Given the description of an element on the screen output the (x, y) to click on. 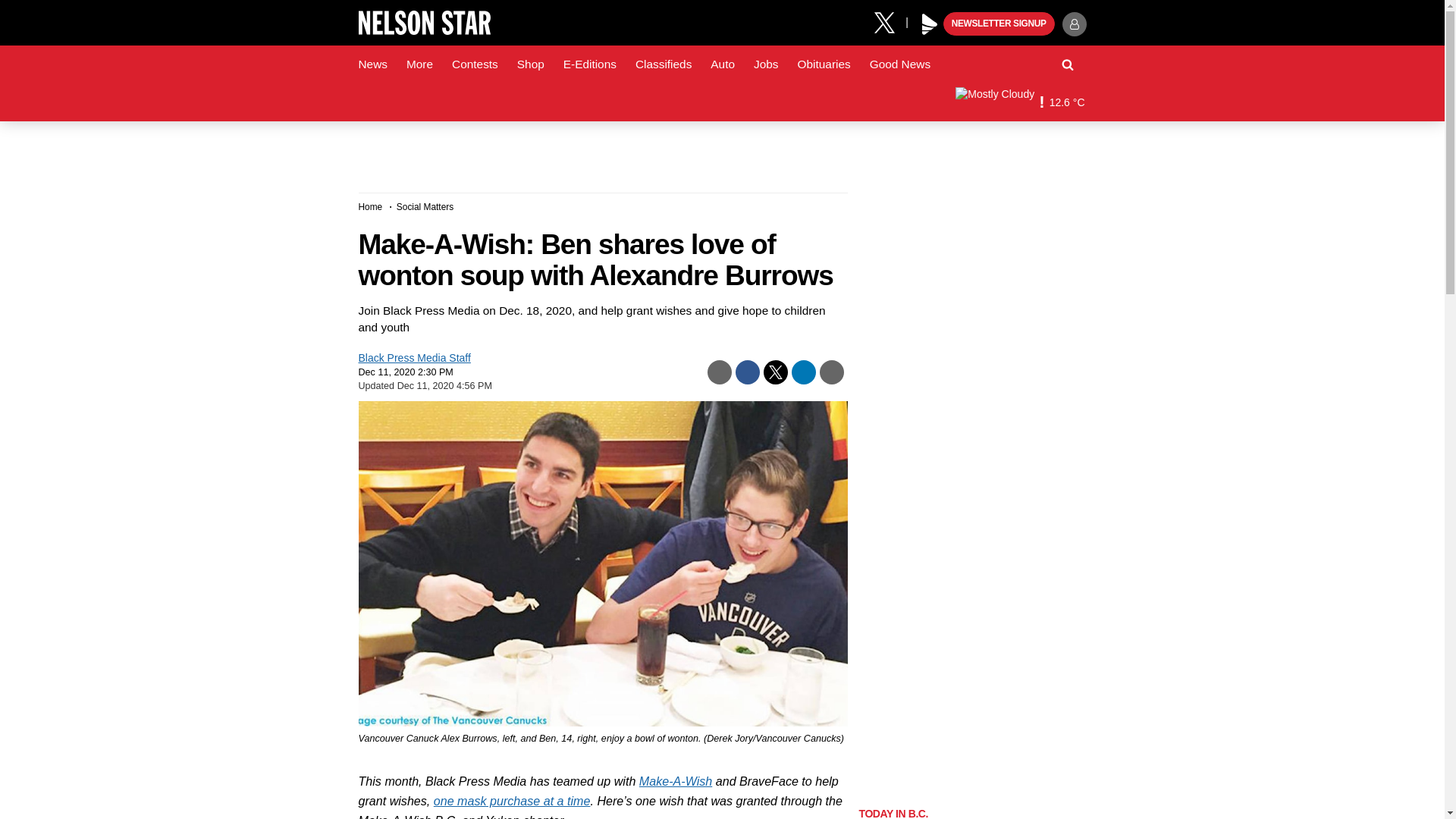
Black Press Media (929, 24)
Play (929, 24)
News (372, 64)
NEWSLETTER SIGNUP (998, 24)
X (889, 21)
